Given the description of an element on the screen output the (x, y) to click on. 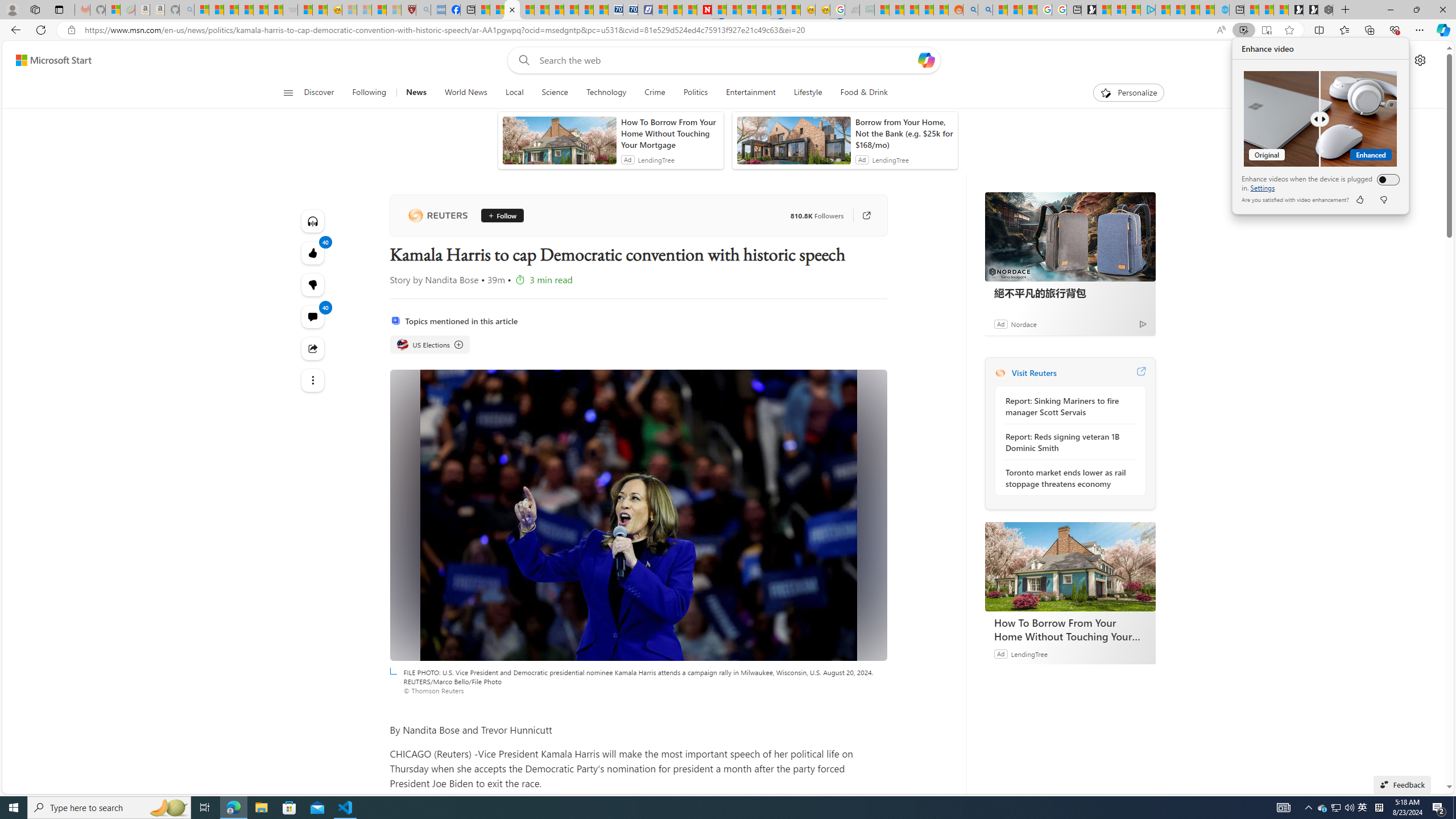
like (1359, 199)
Utah sues federal government - Search (984, 9)
Cheap Hotels - Save70.com (630, 9)
12 Popular Science Lies that Must be Corrected - Sleeping (393, 9)
